Given the description of an element on the screen output the (x, y) to click on. 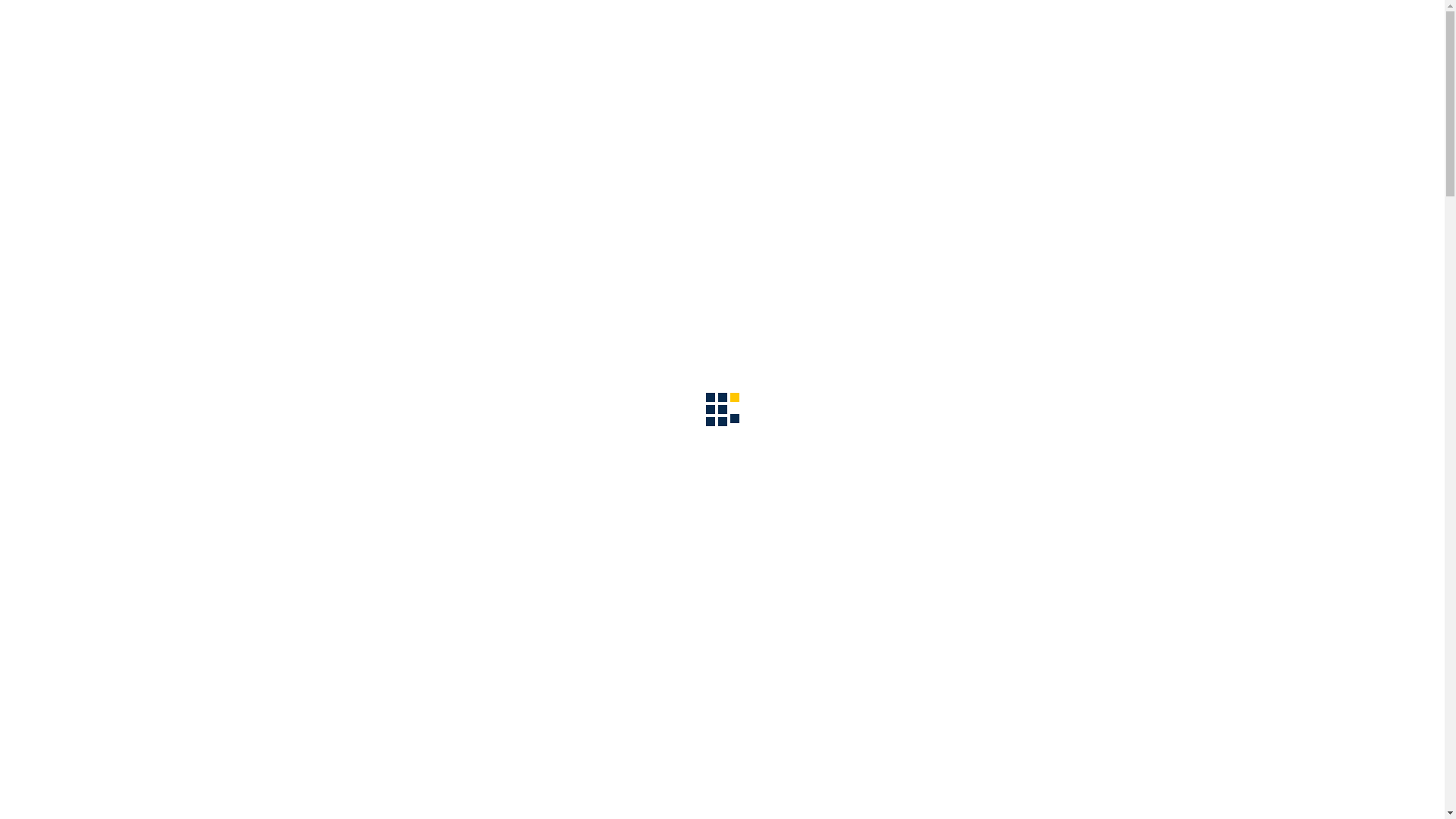
VIE ETUDIANTE Element type: text (1019, 170)
SITE WEB EN INSCRIPTION 2023-2024 Element type: text (533, 375)
Finalistes en ordre Element type: text (370, 536)
RECHERCHE Element type: text (518, 170)
BIBLIOTHEQUE Element type: text (725, 170)
FORMATION Element type: text (617, 170)
SERVICES Element type: text (918, 170)
ACCUEIL Element type: text (303, 170)
+ Contacts Element type: text (1104, 93)
1k
Partager Element type: text (1428, 298)
